Given the description of an element on the screen output the (x, y) to click on. 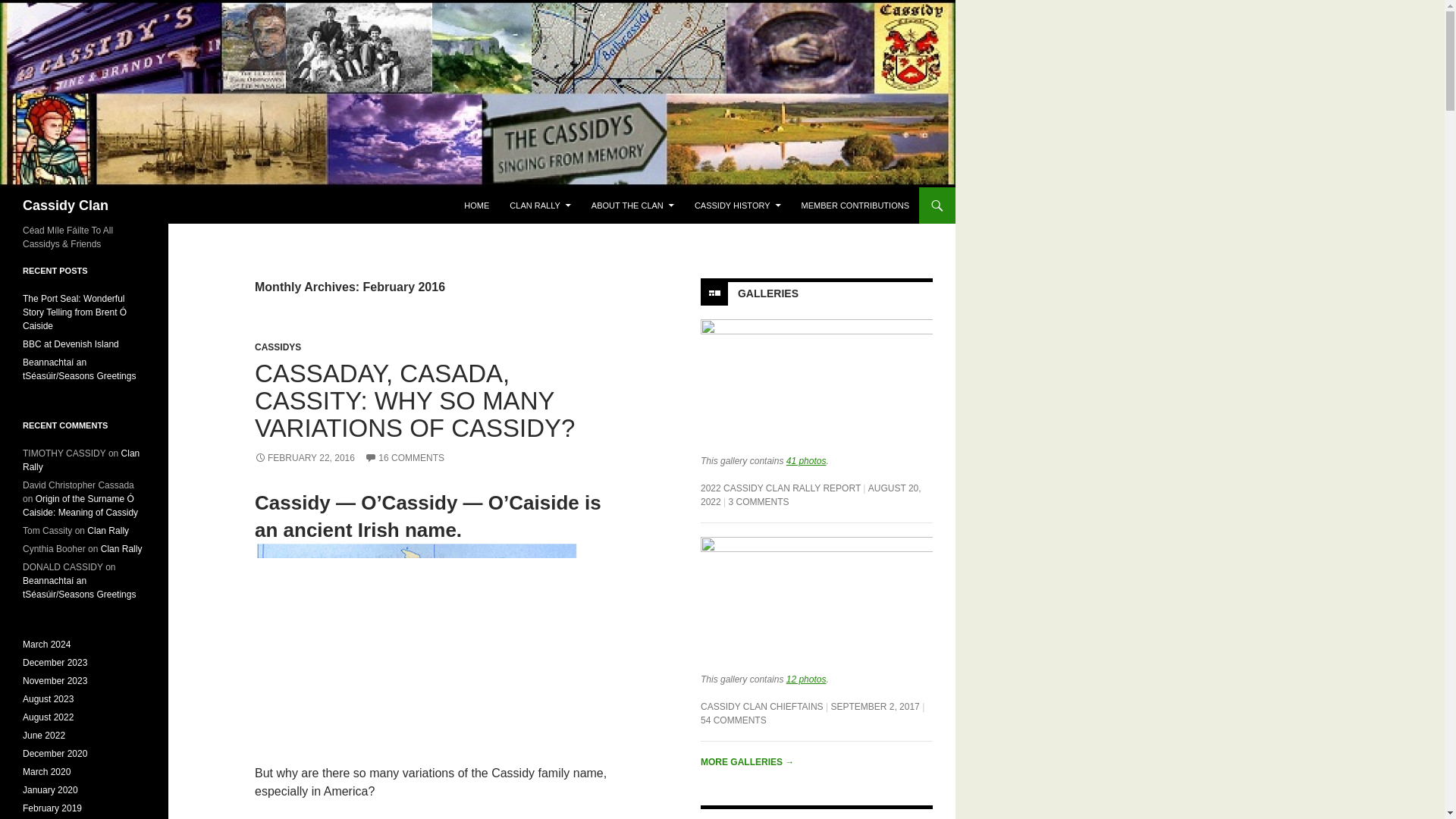
CASSIDY CLAN CHIEFTAINS (762, 706)
CLAN RALLY (539, 205)
2022 CASSIDY CLAN RALLY REPORT (780, 488)
CASSIDY HISTORY (737, 205)
16 COMMENTS (404, 457)
HOME (475, 205)
Cassidy Clan (65, 205)
